Given the description of an element on the screen output the (x, y) to click on. 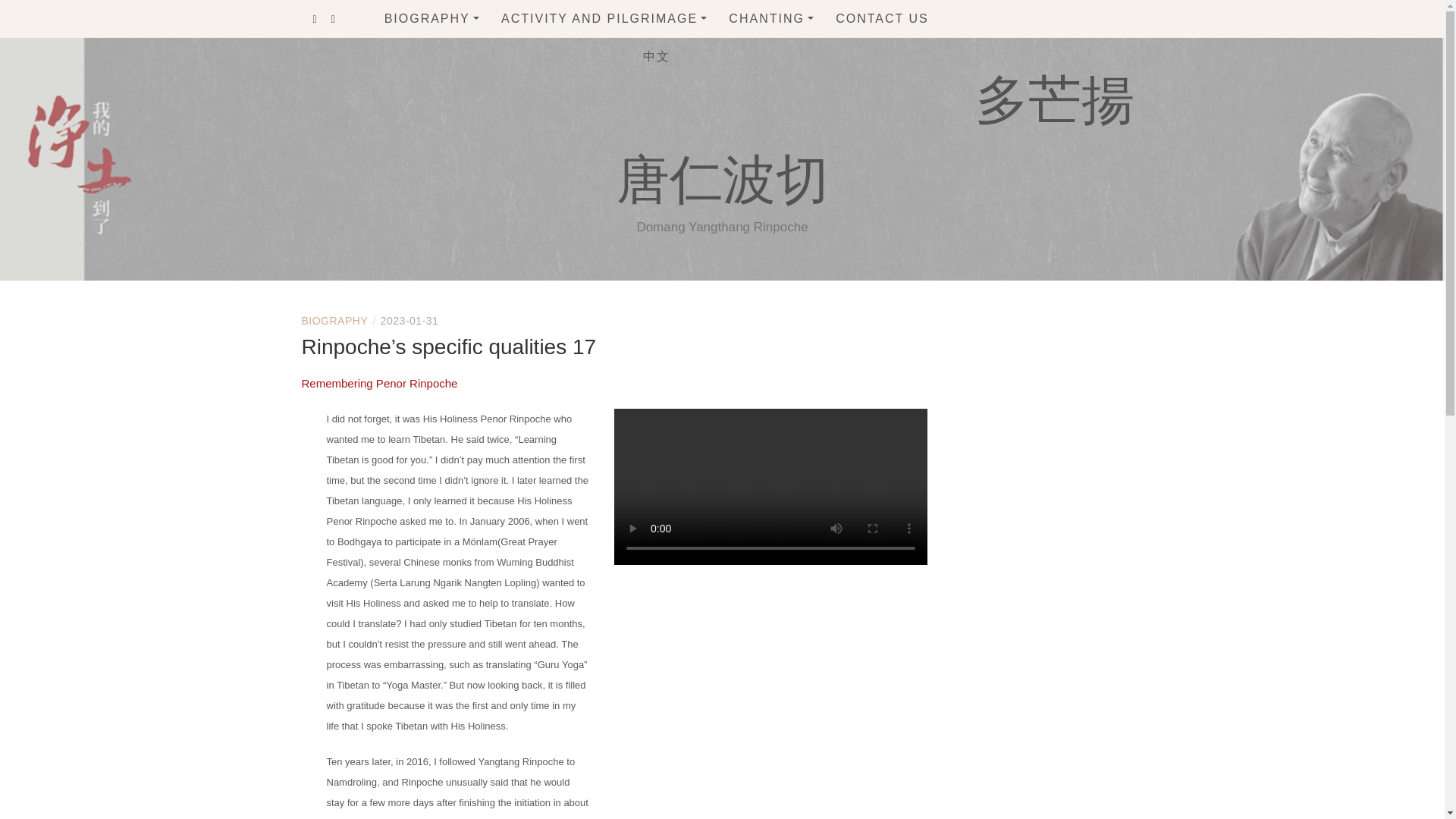
CONTACT US (881, 18)
A BOAT IN ALAMEDA (634, 178)
PILGRIMAGE (584, 84)
GLORIOUS COPPER COLORED MOUNTAIN PRAYER (812, 145)
MANTRA OF BUDDHA SHAKYAMUNI (812, 437)
BIOGRAPHY (431, 18)
DHARMA ACTIVITY (584, 52)
WOW! WOW! (634, 146)
VAJRA GURU CHANTING (812, 222)
CHANTING (771, 18)
